Given the description of an element on the screen output the (x, y) to click on. 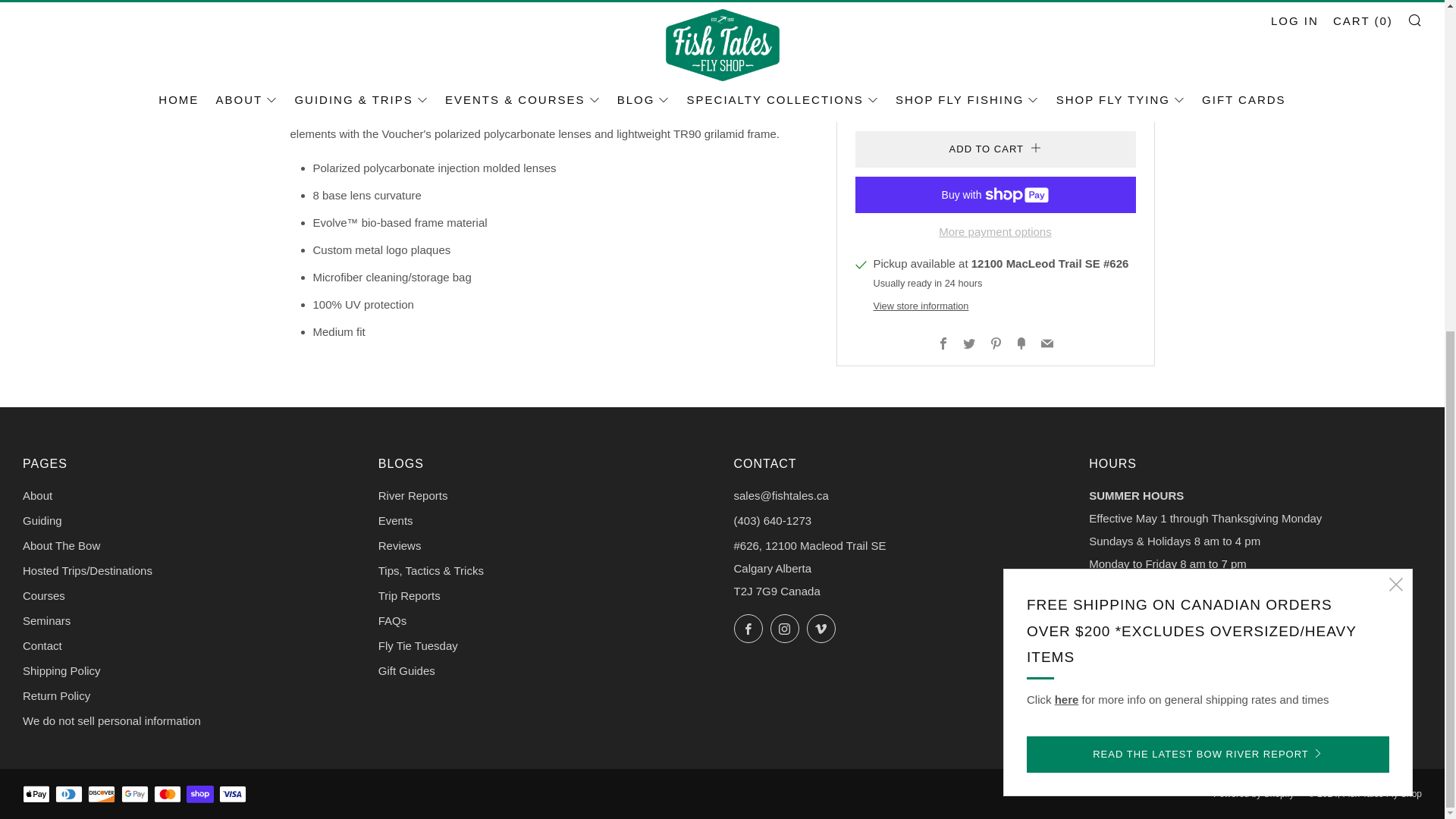
Google Pay (134, 794)
Diners Club (68, 794)
Shop Pay (200, 794)
Mastercard (167, 794)
Discover (101, 794)
Apple Pay (36, 794)
Visa (232, 794)
